Given the description of an element on the screen output the (x, y) to click on. 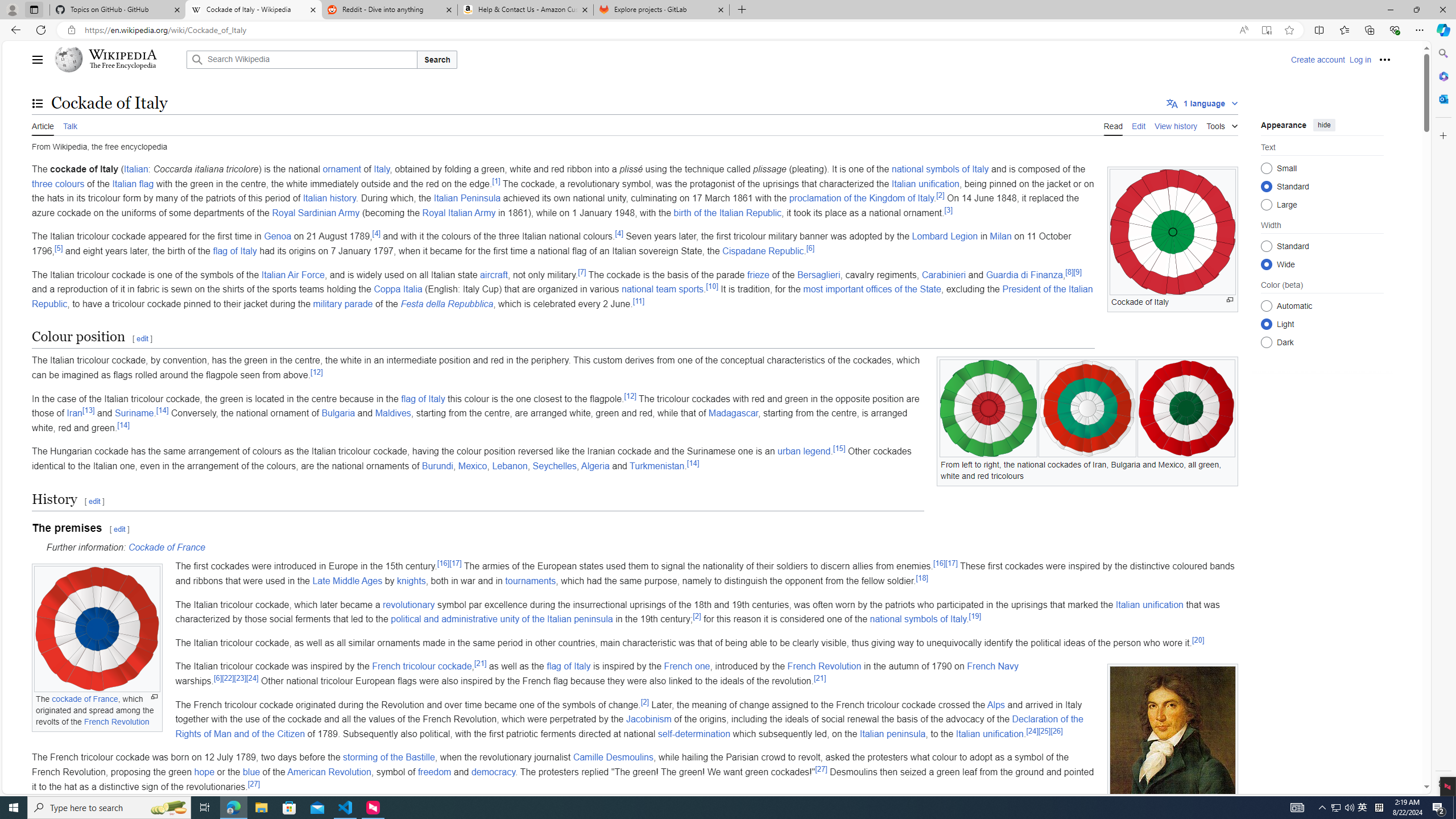
Search (1442, 53)
Settings and more (Alt+F) (1419, 29)
Large (1266, 204)
political and administrative unity of the Italian peninsula (501, 619)
Read aloud this page (Ctrl+Shift+U) (1243, 29)
App bar (728, 29)
French Navy (992, 666)
military parade (342, 303)
Alps (996, 704)
Search Wikipedia (301, 59)
Late Middle Ages (346, 580)
Close tab (720, 9)
Mexico (472, 466)
Side bar (1443, 418)
Main menu (37, 59)
